Given the description of an element on the screen output the (x, y) to click on. 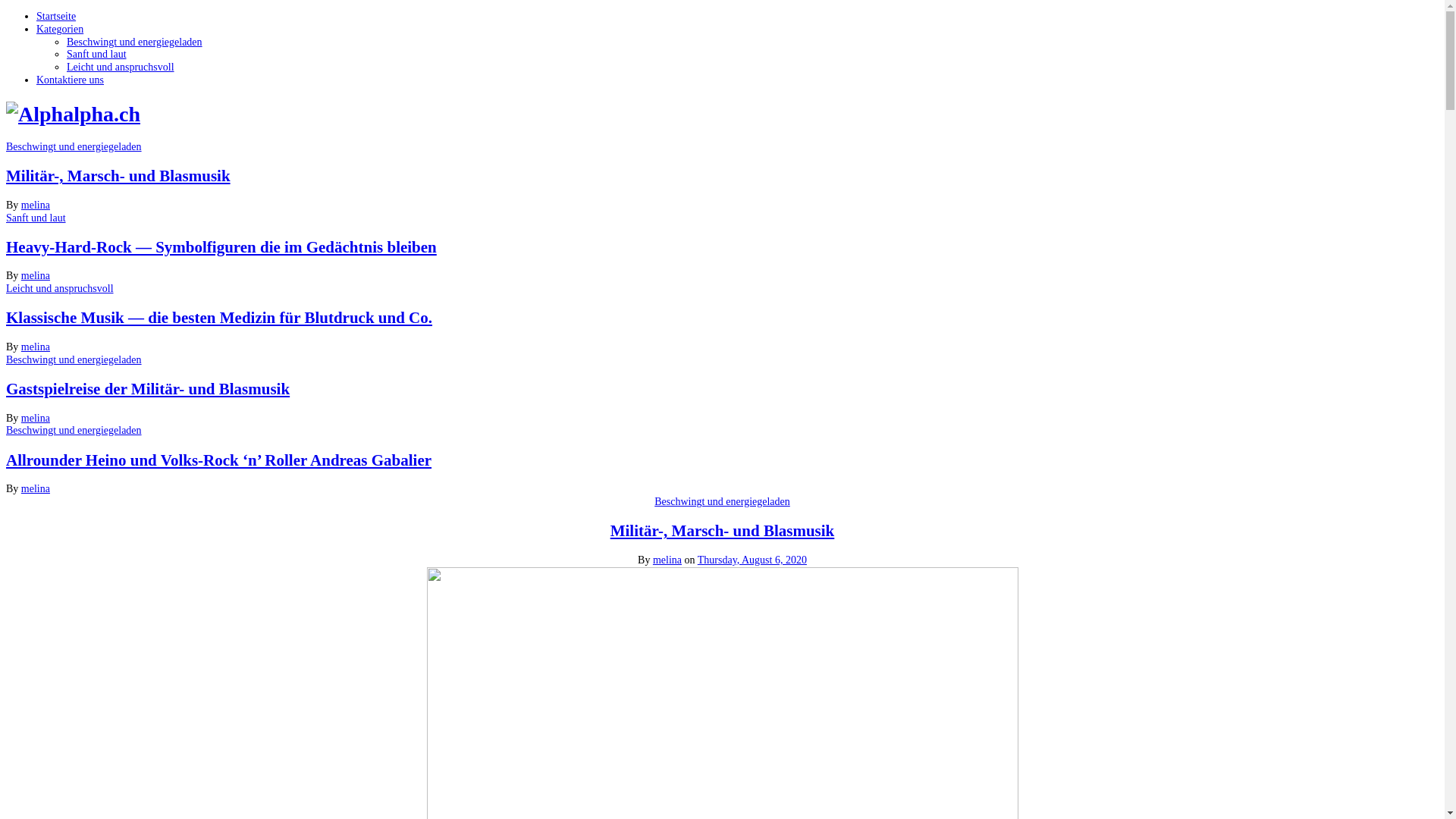
Kontaktiere uns Element type: text (69, 79)
Beschwingt und energiegeladen Element type: text (73, 146)
Startseite Element type: text (55, 15)
Beschwingt und energiegeladen Element type: text (73, 430)
Beschwingt und energiegeladen Element type: text (722, 501)
melina Element type: text (35, 204)
Leicht und anspruchsvoll Element type: text (120, 66)
Sanft und laut Element type: text (96, 53)
melina Element type: text (666, 559)
Kategorien Element type: text (59, 28)
melina Element type: text (35, 488)
melina Element type: text (35, 275)
melina Element type: text (35, 346)
melina Element type: text (35, 417)
Sanft und laut Element type: text (35, 217)
Thursday, August 6, 2020 Element type: text (751, 559)
Beschwingt und energiegeladen Element type: text (134, 41)
Leicht und anspruchsvoll Element type: text (59, 288)
Beschwingt und energiegeladen Element type: text (73, 359)
